Given the description of an element on the screen output the (x, y) to click on. 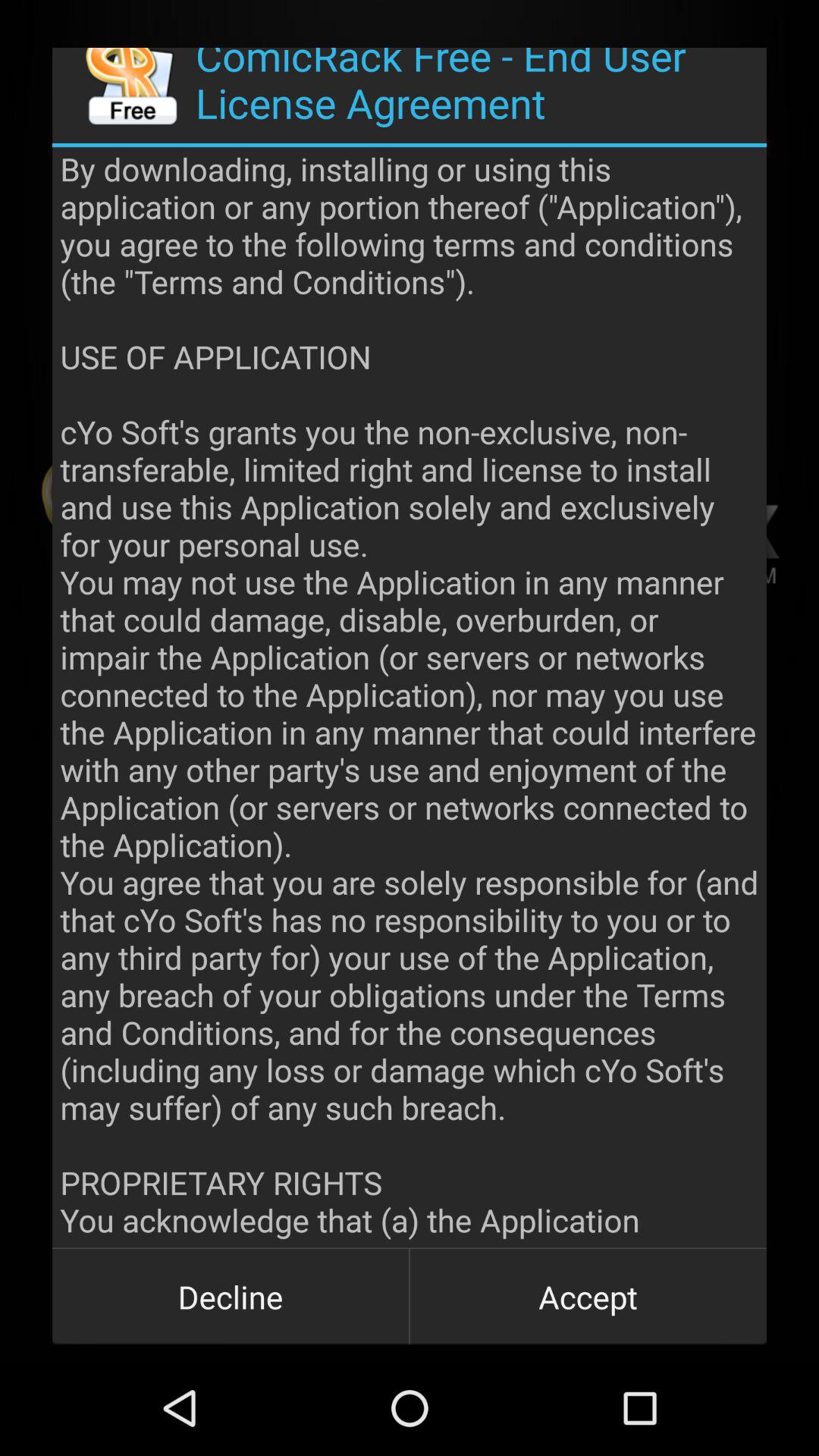
choose the decline button (230, 1296)
